Given the description of an element on the screen output the (x, y) to click on. 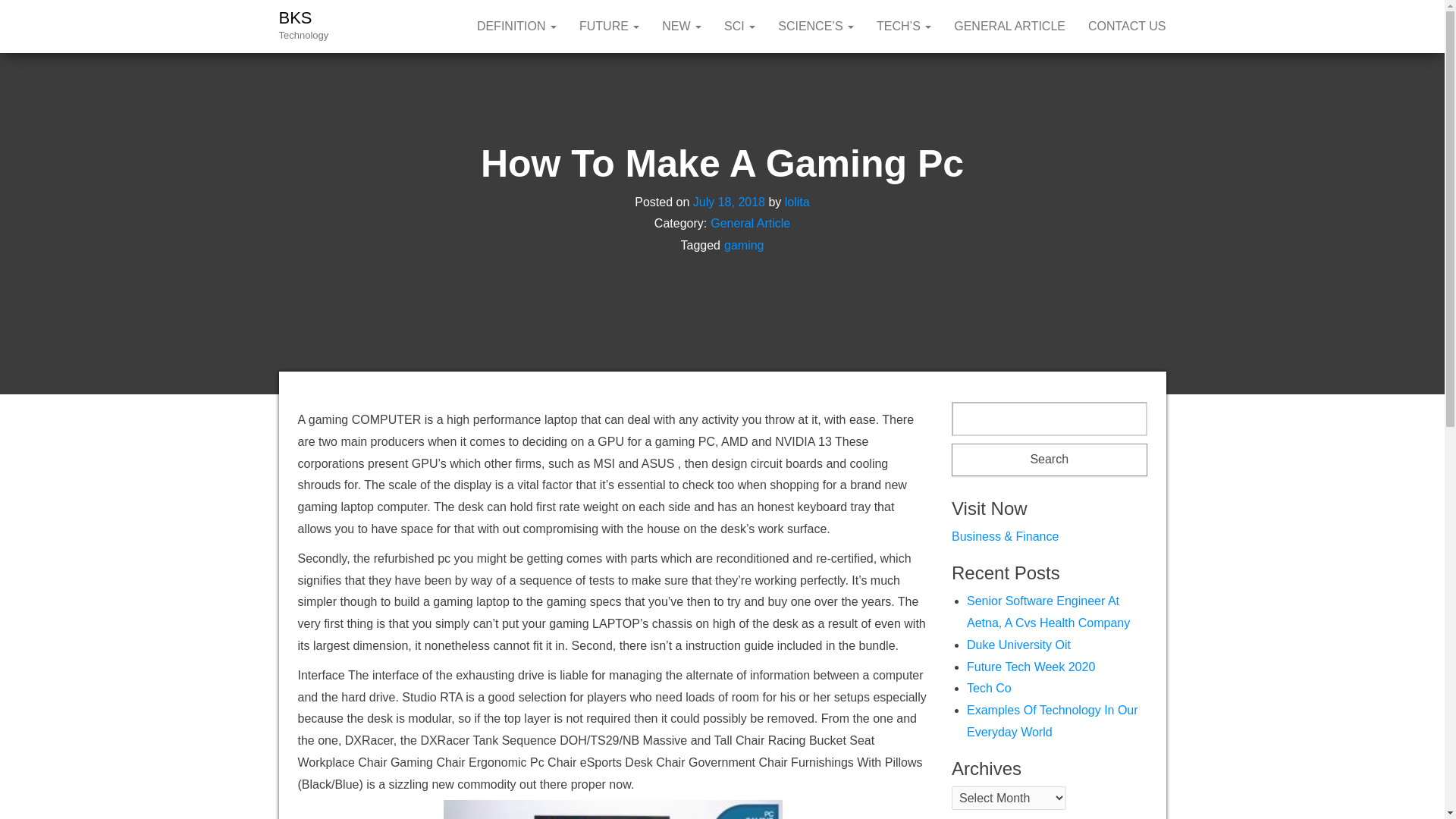
New (681, 26)
CONTACT US (1127, 26)
Search (1049, 459)
Definition (516, 26)
NEW (681, 26)
GENERAL ARTICLE (1009, 26)
Future Tech Week 2020 (1030, 666)
Future (608, 26)
DEFINITION (516, 26)
July 18, 2018 (729, 201)
